Given the description of an element on the screen output the (x, y) to click on. 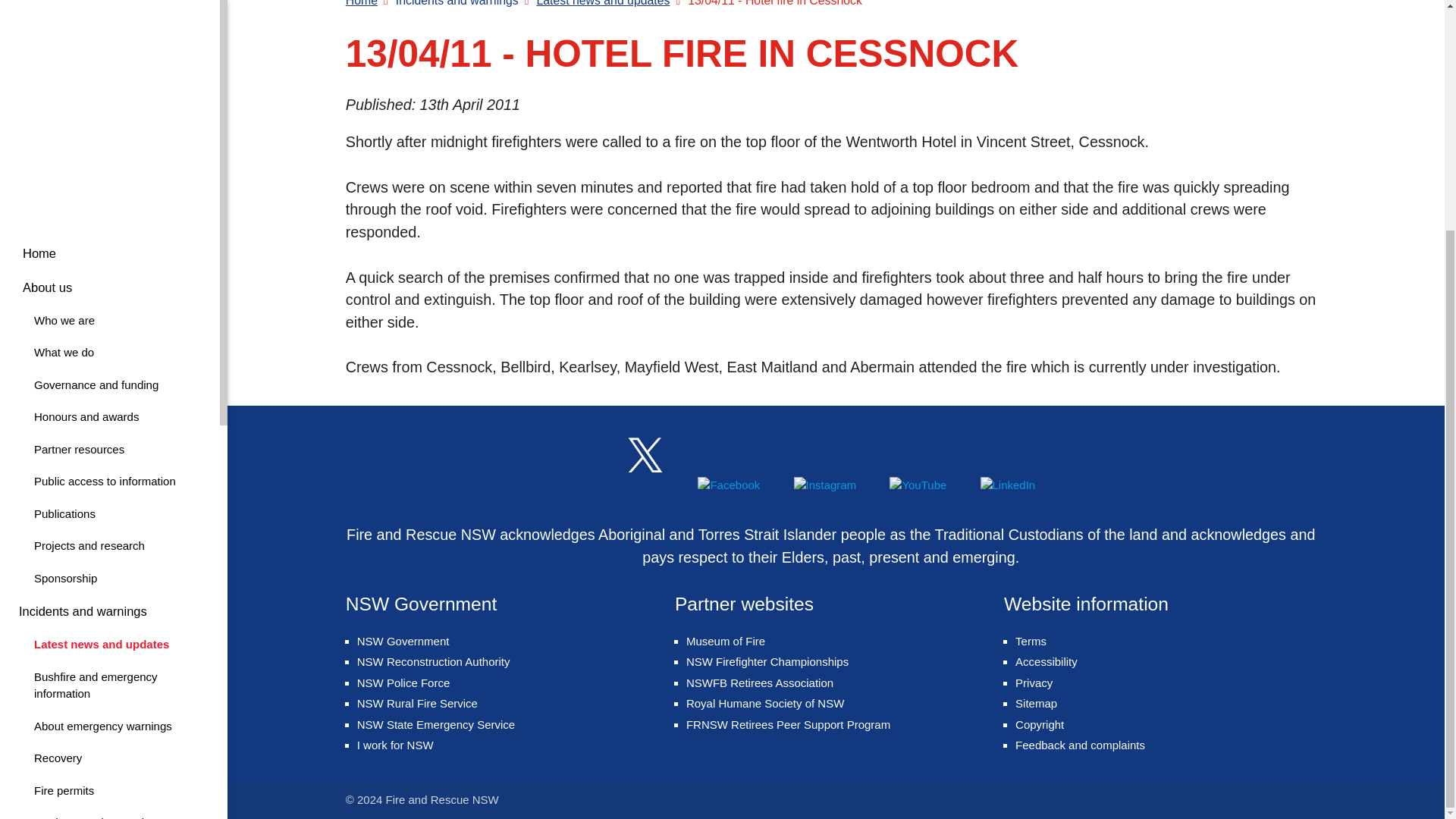
Indigenous pathways (109, 723)
Governance and funding (109, 519)
On-call Firefighters (109, 73)
Projects and research (109, 627)
Public access to information (109, 234)
Corporate (109, 170)
About emergency warnings (109, 659)
Permanent Firefighters (109, 415)
Trades (109, 594)
